Given the description of an element on the screen output the (x, y) to click on. 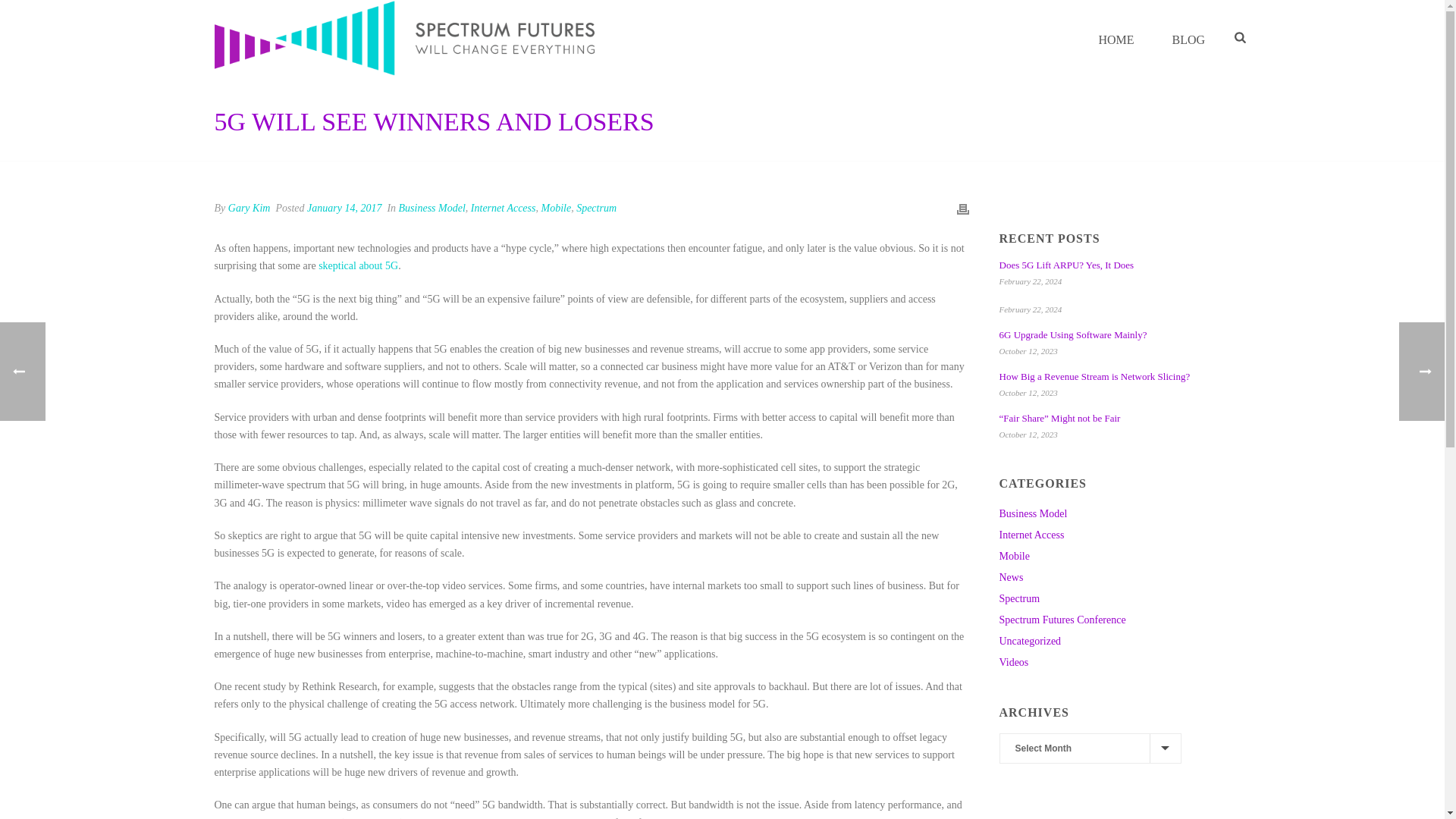
HOME (1115, 38)
News (1010, 577)
Home (1115, 38)
Mobile (555, 207)
Internet Access (1031, 535)
Spectrum (1019, 599)
HOME (1115, 38)
skeptical about 5G (357, 265)
Business Model (1032, 513)
Gary Kim (249, 207)
